Given the description of an element on the screen output the (x, y) to click on. 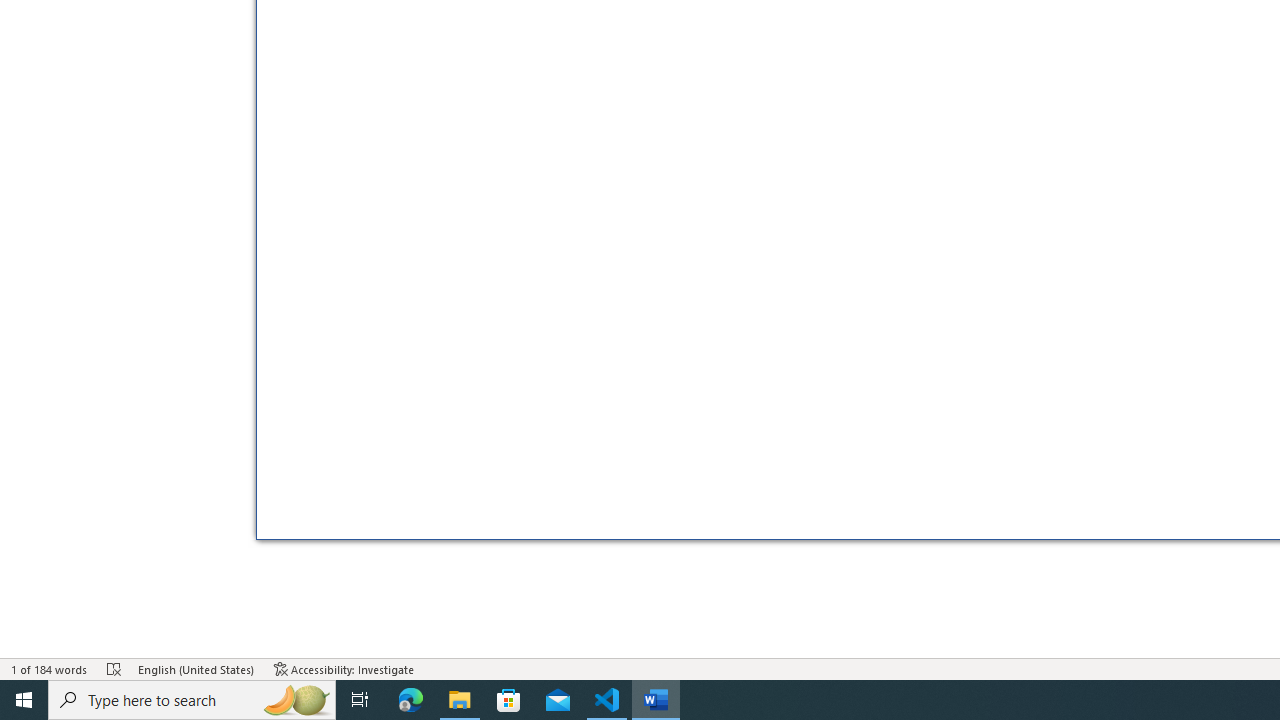
Language English (United States) (196, 668)
Microsoft Edge (411, 699)
Search highlights icon opens search home window (295, 699)
Word Count 1 of 184 words (49, 668)
Word - 1 running window (656, 699)
Spelling and Grammar Check Errors (114, 668)
Task View (359, 699)
File Explorer - 1 running window (460, 699)
Type here to search (191, 699)
Accessibility Checker Accessibility: Investigate (344, 668)
Start (24, 699)
Microsoft Store (509, 699)
Visual Studio Code - 1 running window (607, 699)
